Given the description of an element on the screen output the (x, y) to click on. 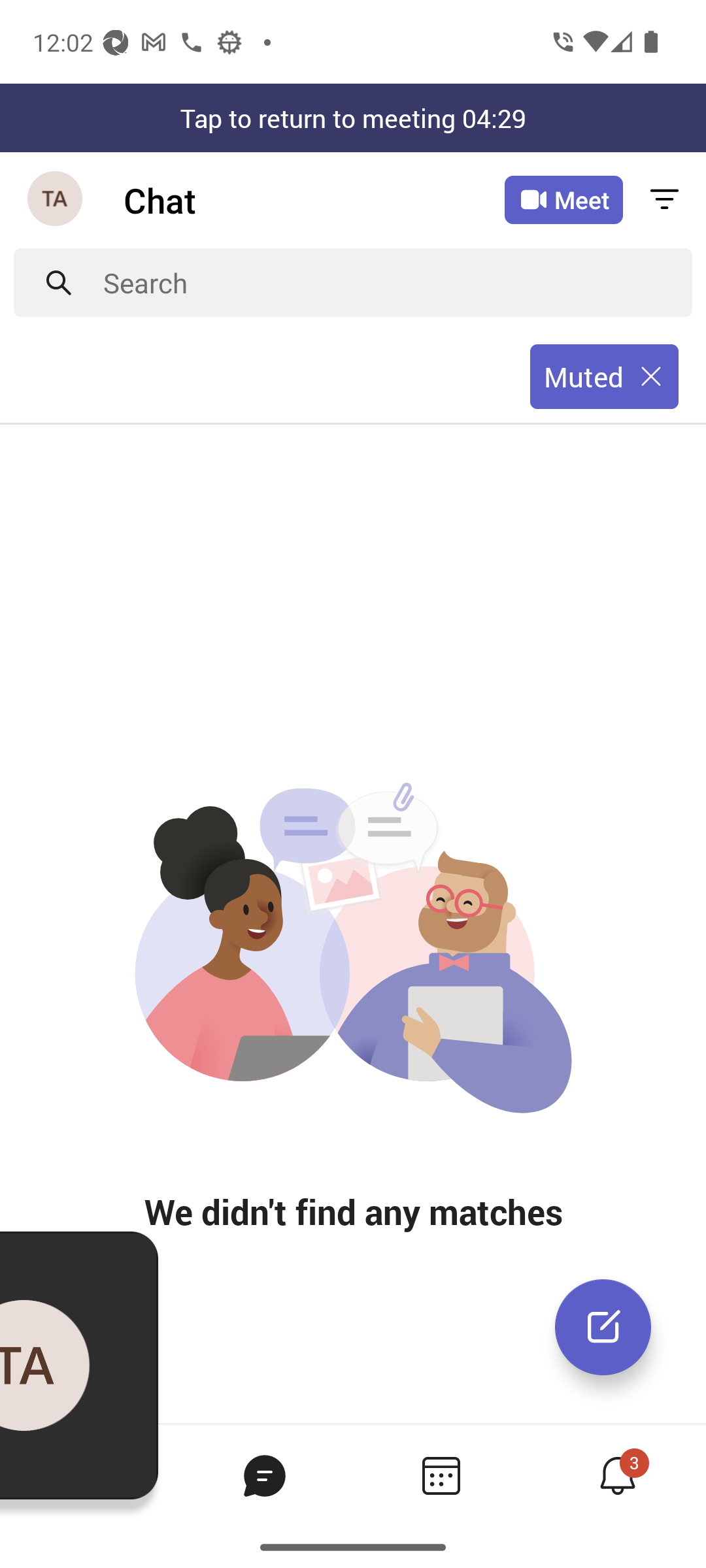
Tap to return to meeting 04:29 (353, 117)
Filter chat messages (664, 199)
Navigation (56, 199)
Meet Meet now or join with an ID (563, 199)
Search (397, 281)
Muted Remove Muted filter (604, 376)
New chat (602, 1327)
Chat tab, 2 of 4 (264, 1475)
Calendar tab,3 of 4, not selected (441, 1475)
Activity tab,4 of 4, not selected, 3 new 3 (617, 1475)
